Given the description of an element on the screen output the (x, y) to click on. 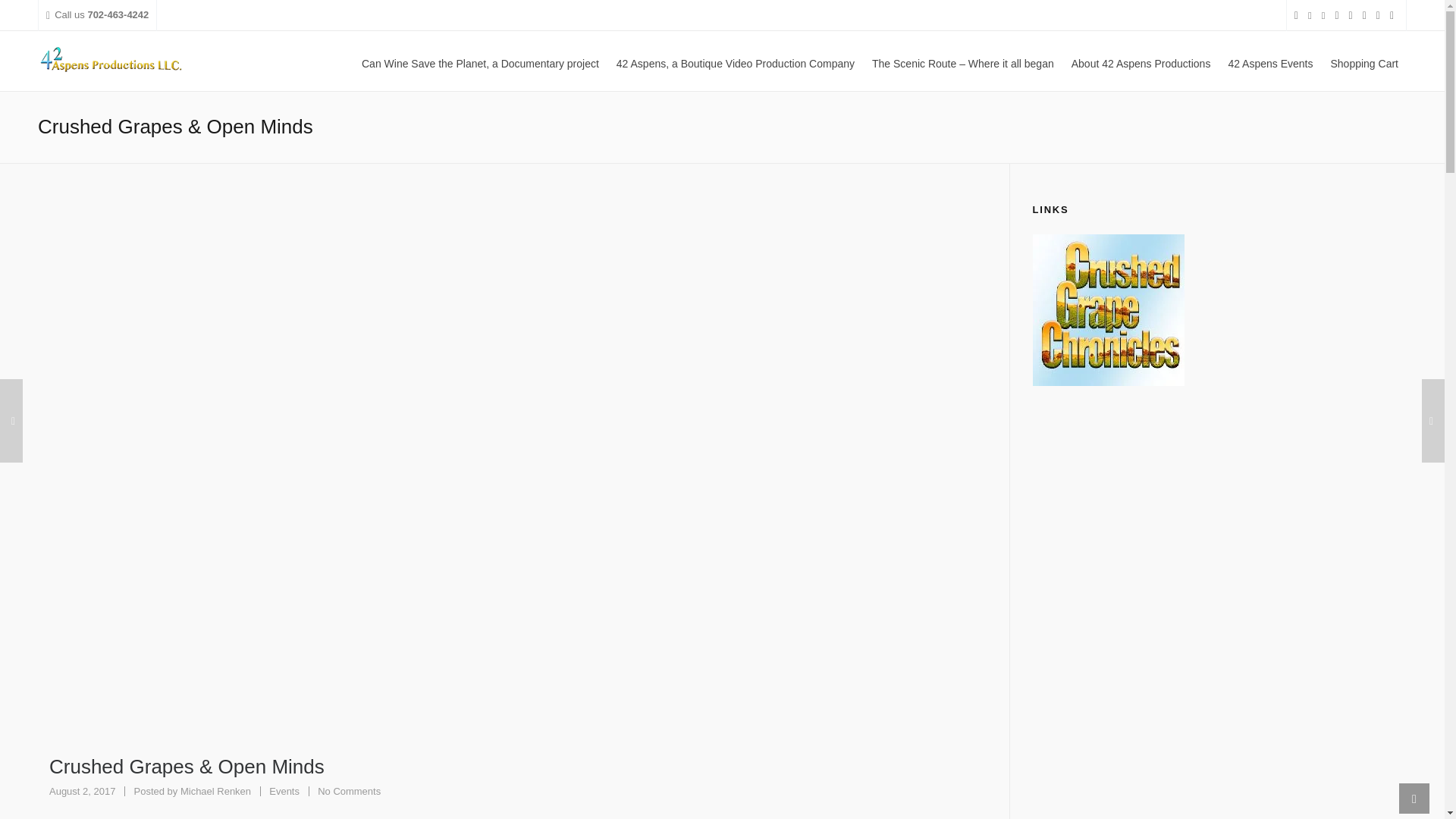
42 Aspens, a Boutique Video Production Company (735, 61)
No Comments (348, 790)
Can Wine Save the Planet, a Documentary project (480, 61)
42 Aspens Events (1270, 61)
About 42 Aspens Productions (1141, 61)
Shopping Cart (215, 790)
Michael Renken (1364, 61)
Crushed Grape Open Minds, The Event (215, 790)
